Given the description of an element on the screen output the (x, y) to click on. 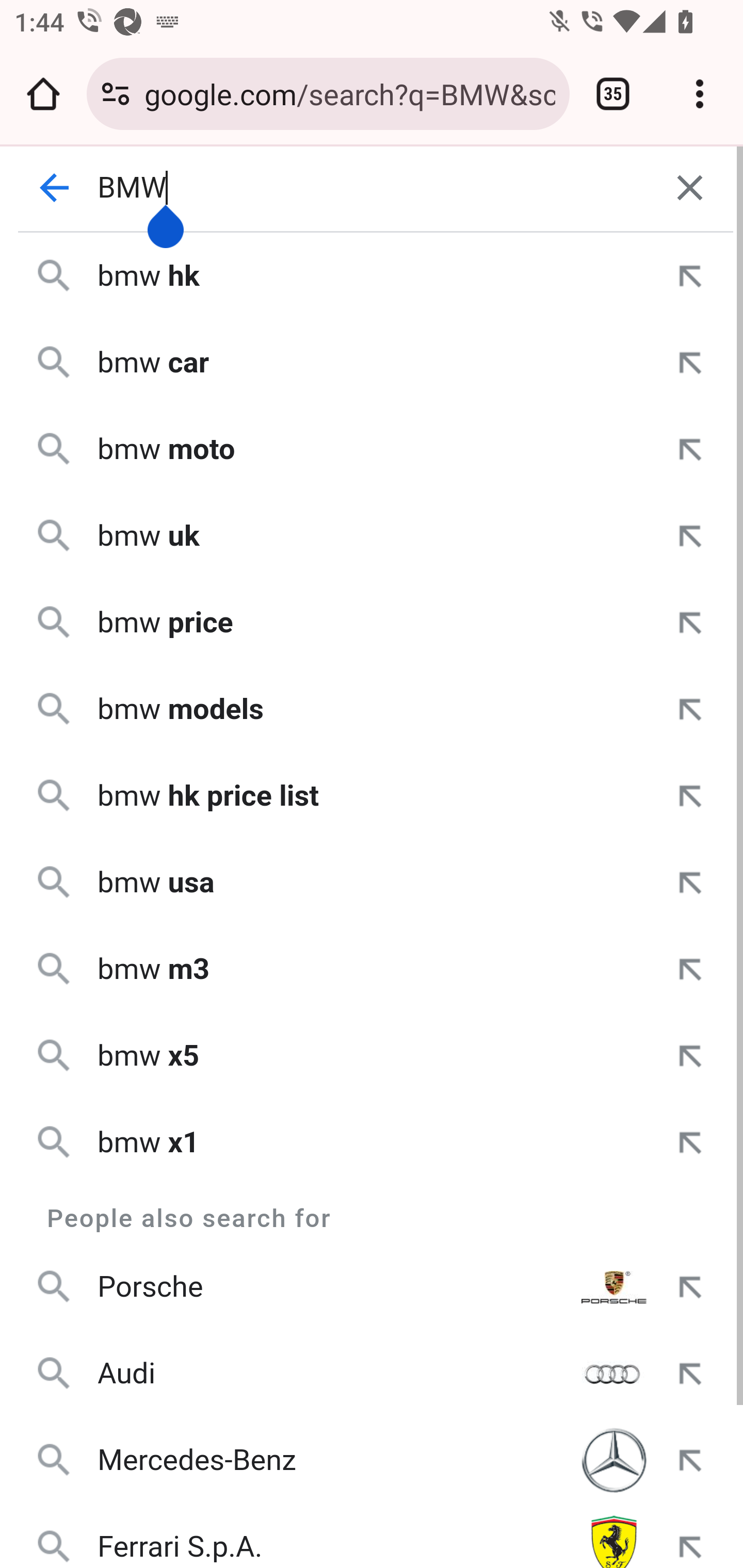
Open the home page (43, 93)
Connection is secure (115, 93)
Switch or close tabs (612, 93)
Customize and control Google Chrome (699, 93)
Back (54, 188)
Clear Search (690, 188)
BMW (372, 188)
